Given the description of an element on the screen output the (x, y) to click on. 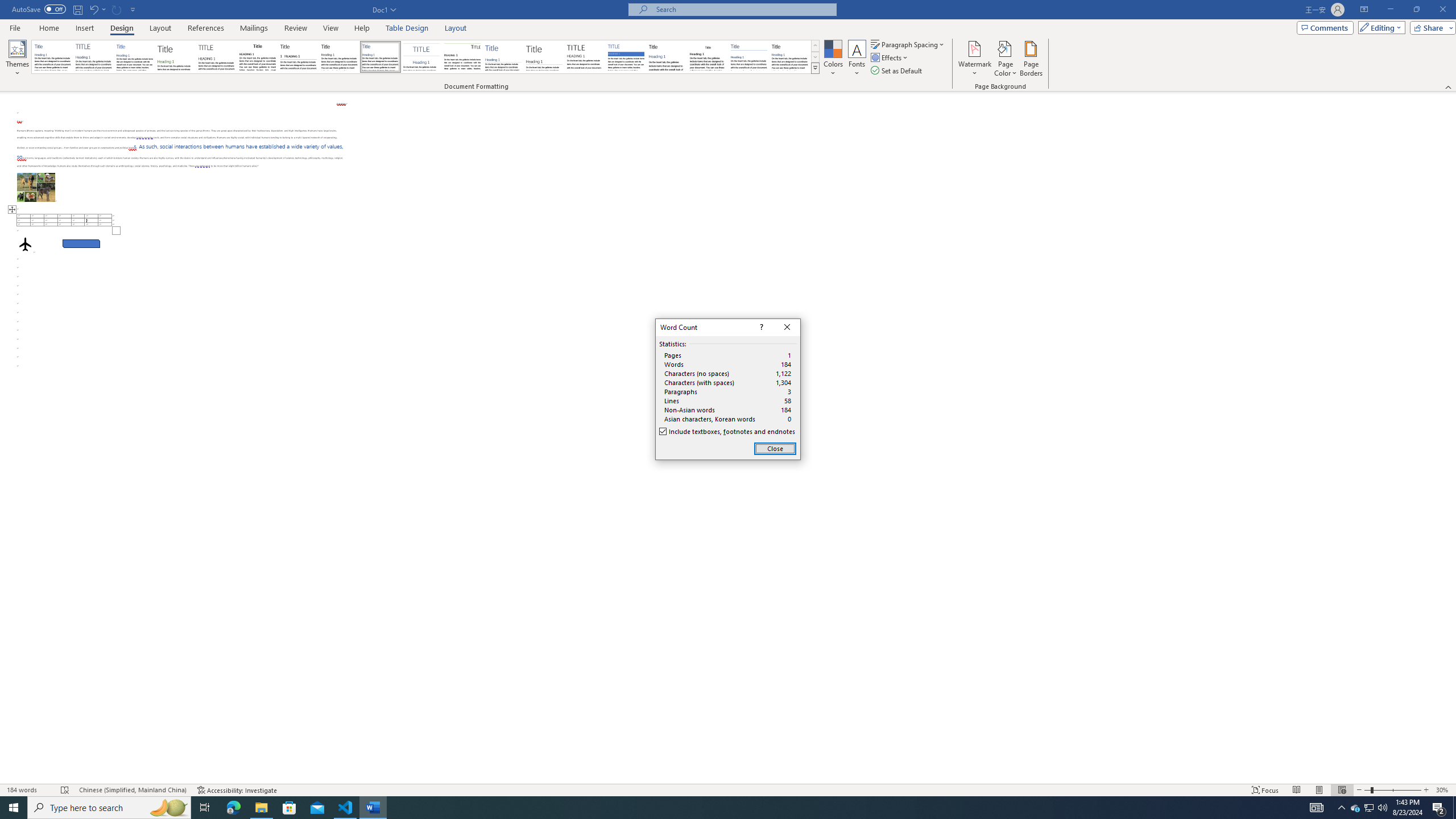
Page Borders... (1031, 58)
Casual (379, 56)
Lines (Stylish) (544, 56)
Minimalist (584, 56)
Black & White (Numbered) (298, 56)
Word 2010 (749, 56)
Paragraph Spacing (908, 44)
Include textboxes, footnotes and endnotes (727, 431)
